Given the description of an element on the screen output the (x, y) to click on. 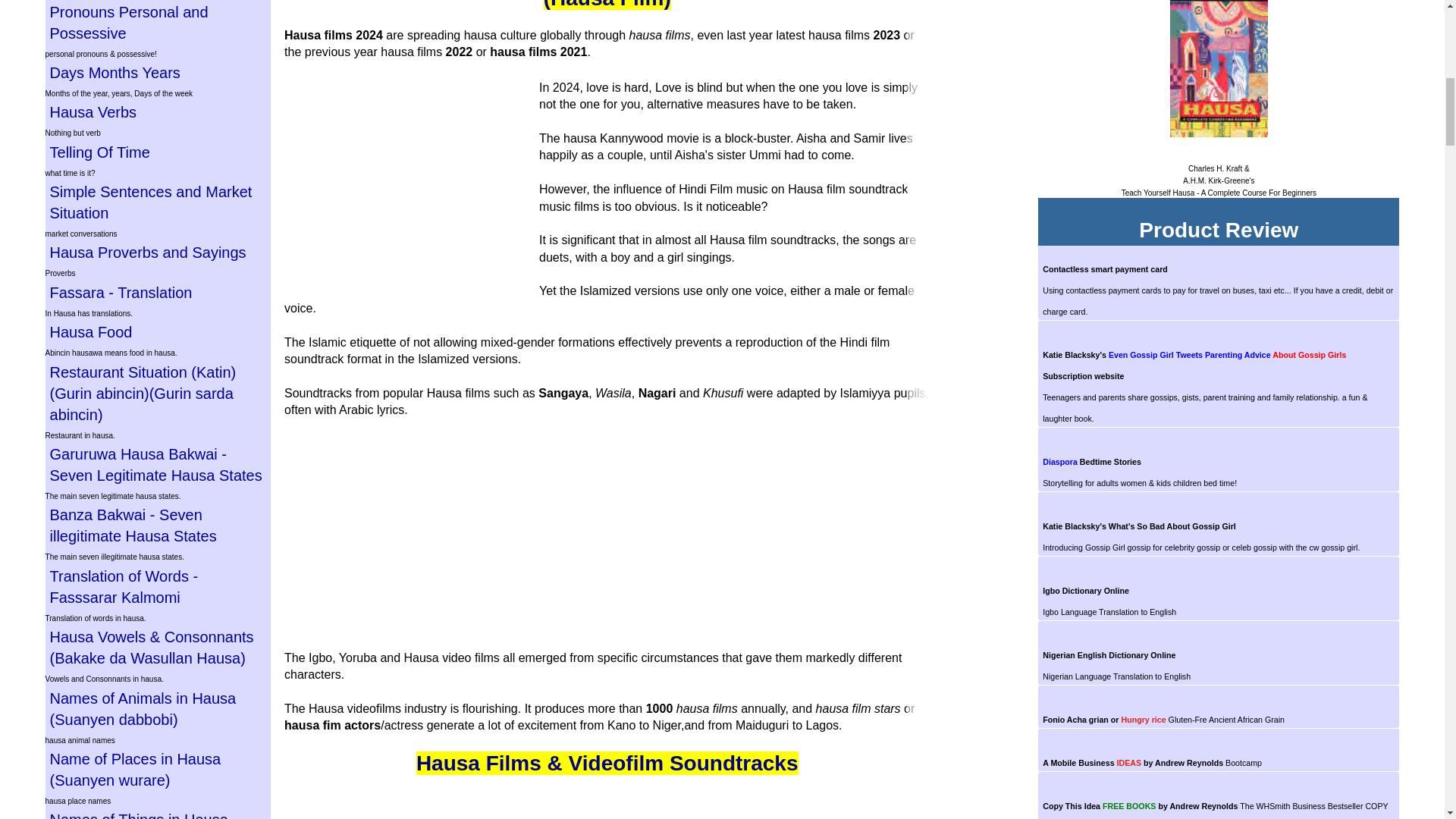
Hausa Proverbs and Sayings (157, 251)
Days Months Years (157, 72)
Hausa Verbs (157, 111)
Hausa Food (157, 332)
Pronouns Personal and Possessive (157, 22)
Days Months and  the Years (157, 72)
Translation of Words - Fasssarar Kalmomi (157, 586)
Simple Sentences and Market Situation (157, 201)
Telling Of Time (157, 151)
Hausa Proverbs and Sayings (157, 251)
